Given the description of an element on the screen output the (x, y) to click on. 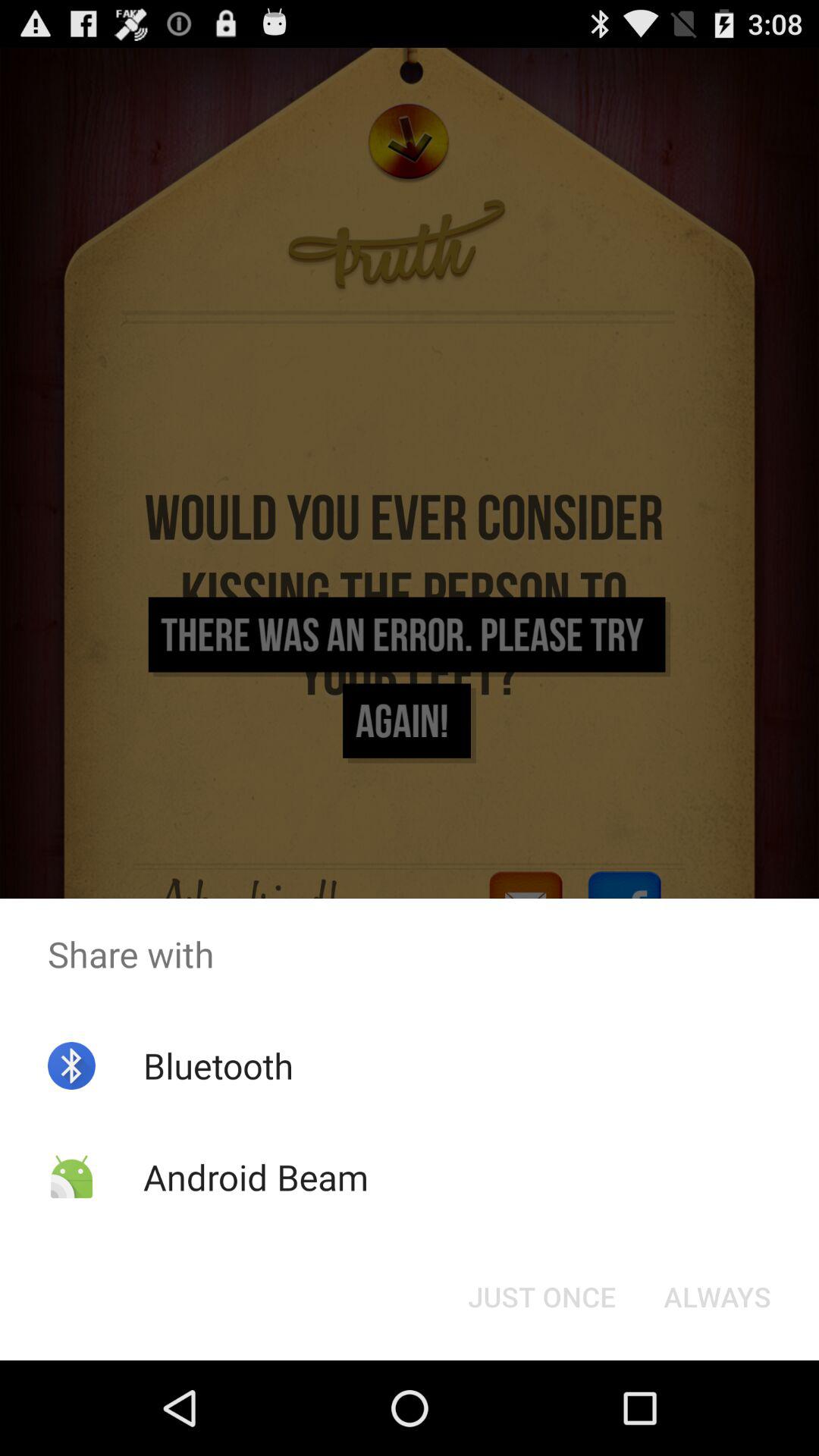
turn off item below share with (218, 1065)
